Given the description of an element on the screen output the (x, y) to click on. 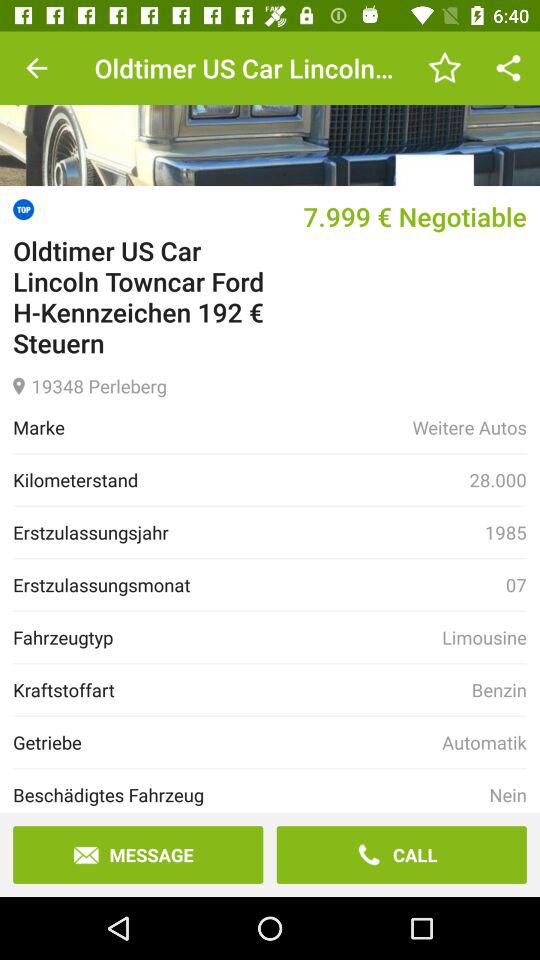
flip until the weitere autos icon (469, 427)
